Given the description of an element on the screen output the (x, y) to click on. 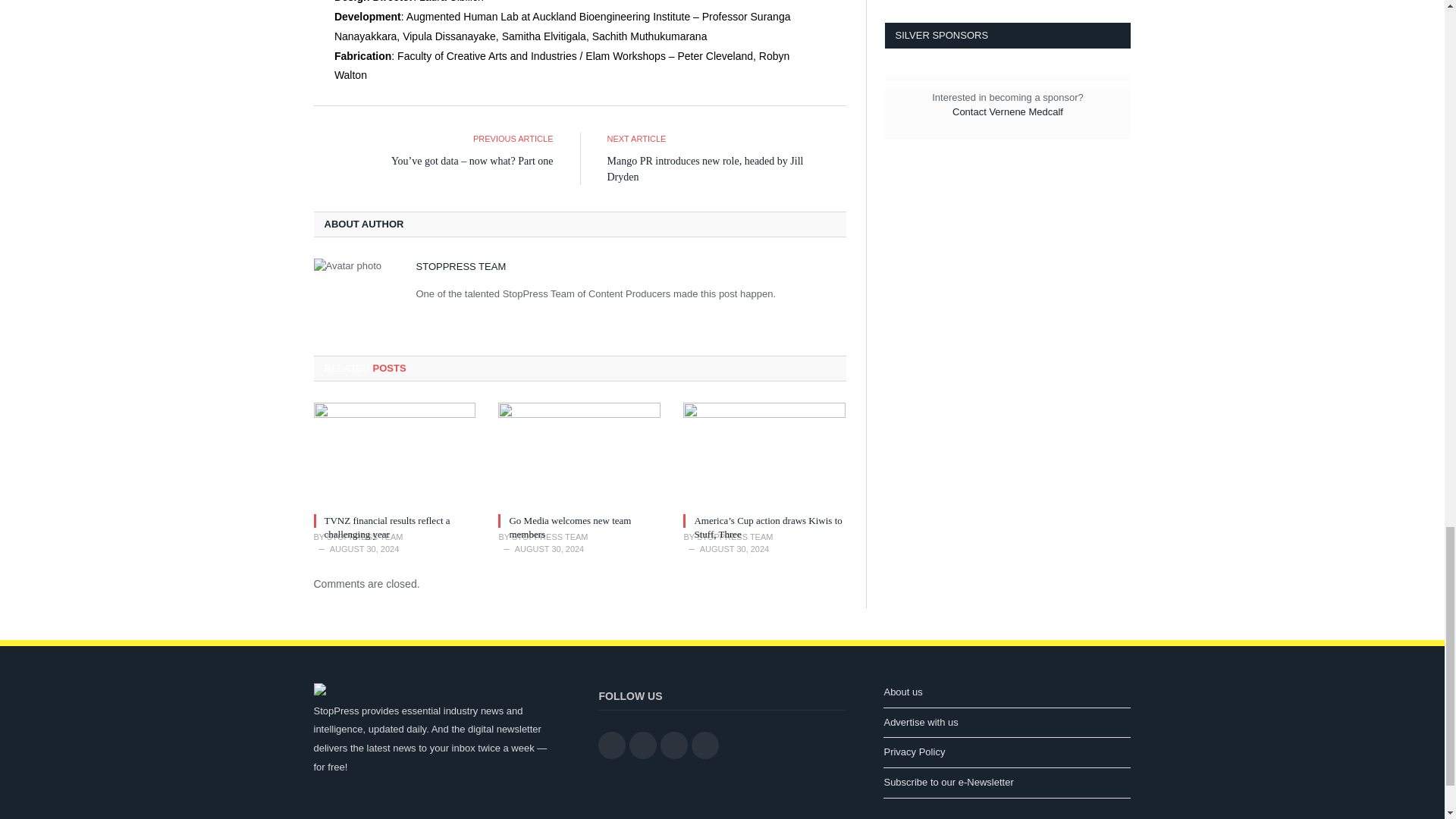
Posts by StopPress Team (459, 266)
TVNZ financial results reflect a challenging year (395, 455)
TVNZ financial results reflect a challenging year (386, 527)
Posts by StopPress Team (364, 536)
